Given the description of an element on the screen output the (x, y) to click on. 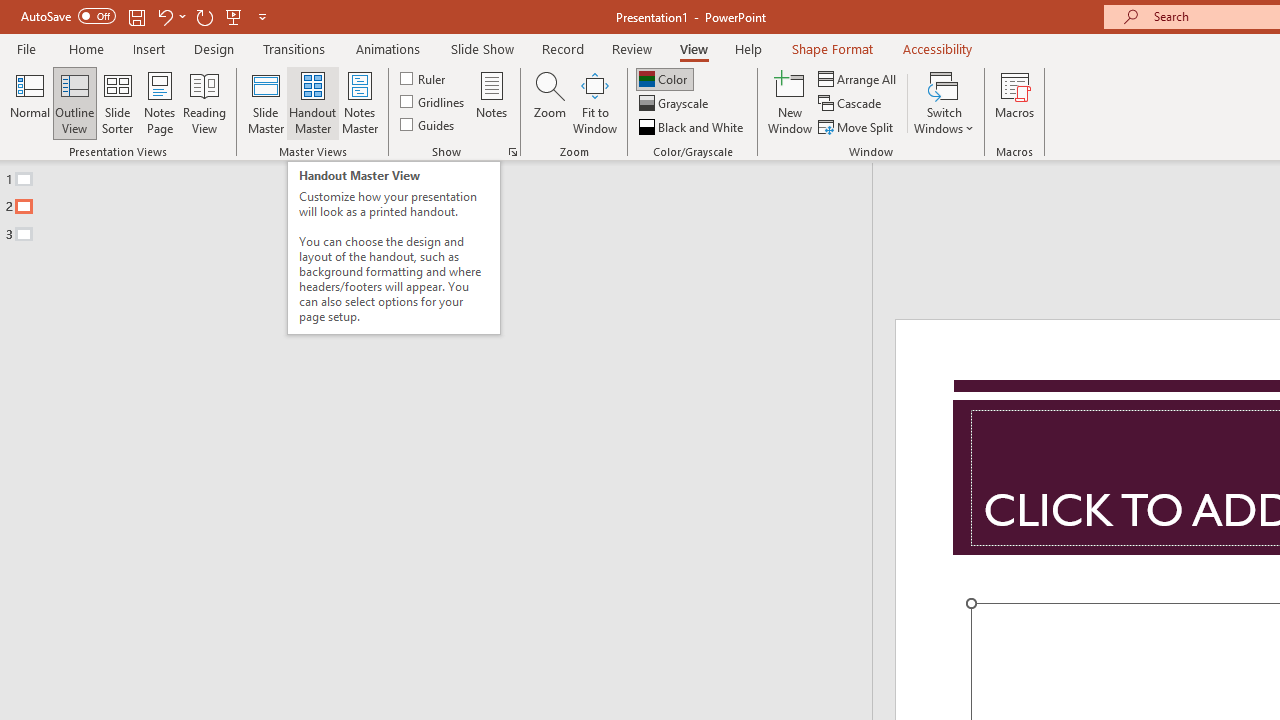
Guides (428, 124)
Macros (1014, 102)
Gridlines (433, 101)
Notes Page (159, 102)
Switch Windows (943, 102)
